Given the description of an element on the screen output the (x, y) to click on. 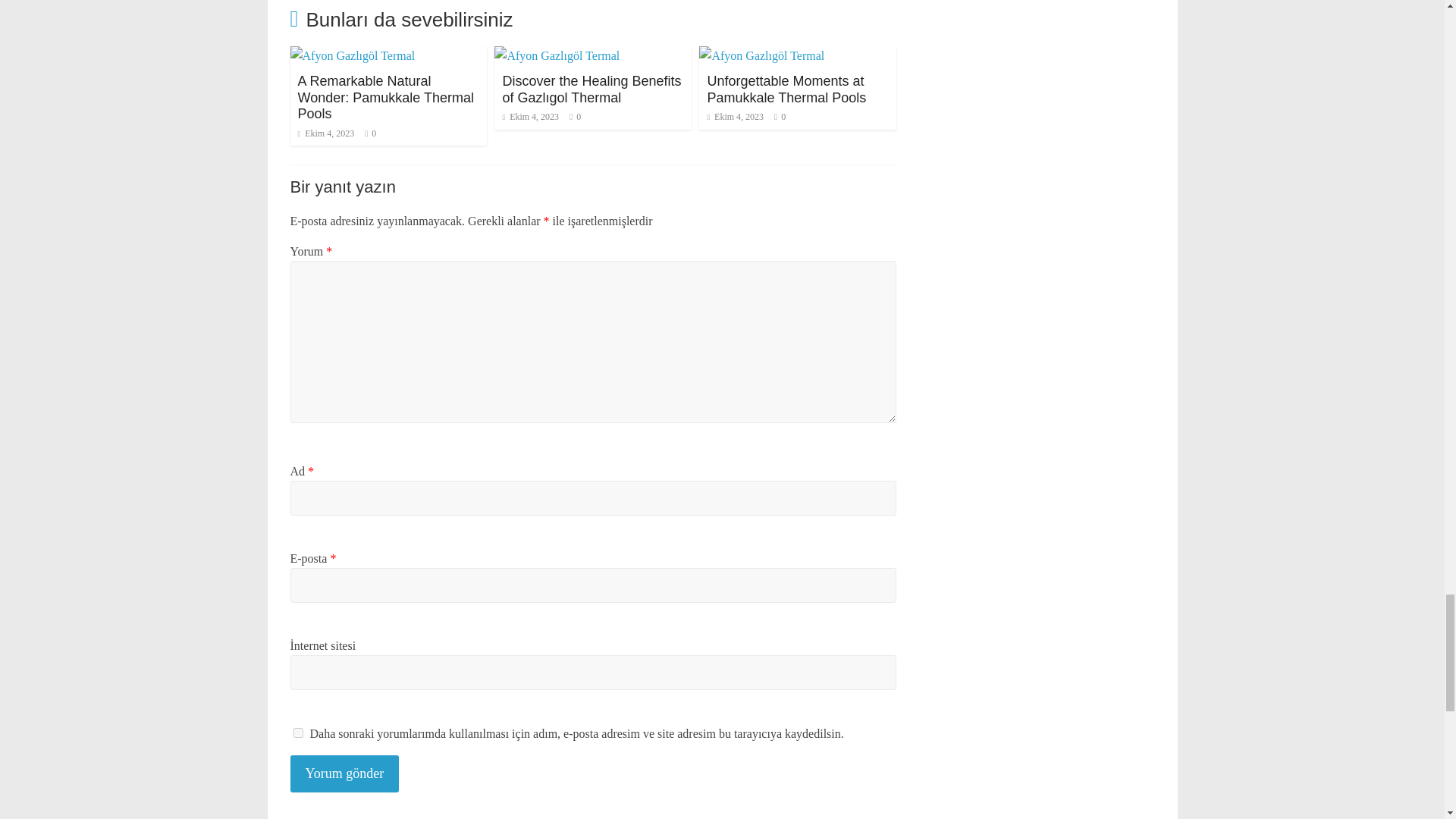
Ekim 4, 2023 (325, 132)
yes (297, 732)
A Remarkable Natural Wonder: Pamukkale Thermal Pools (385, 97)
